Given the description of an element on the screen output the (x, y) to click on. 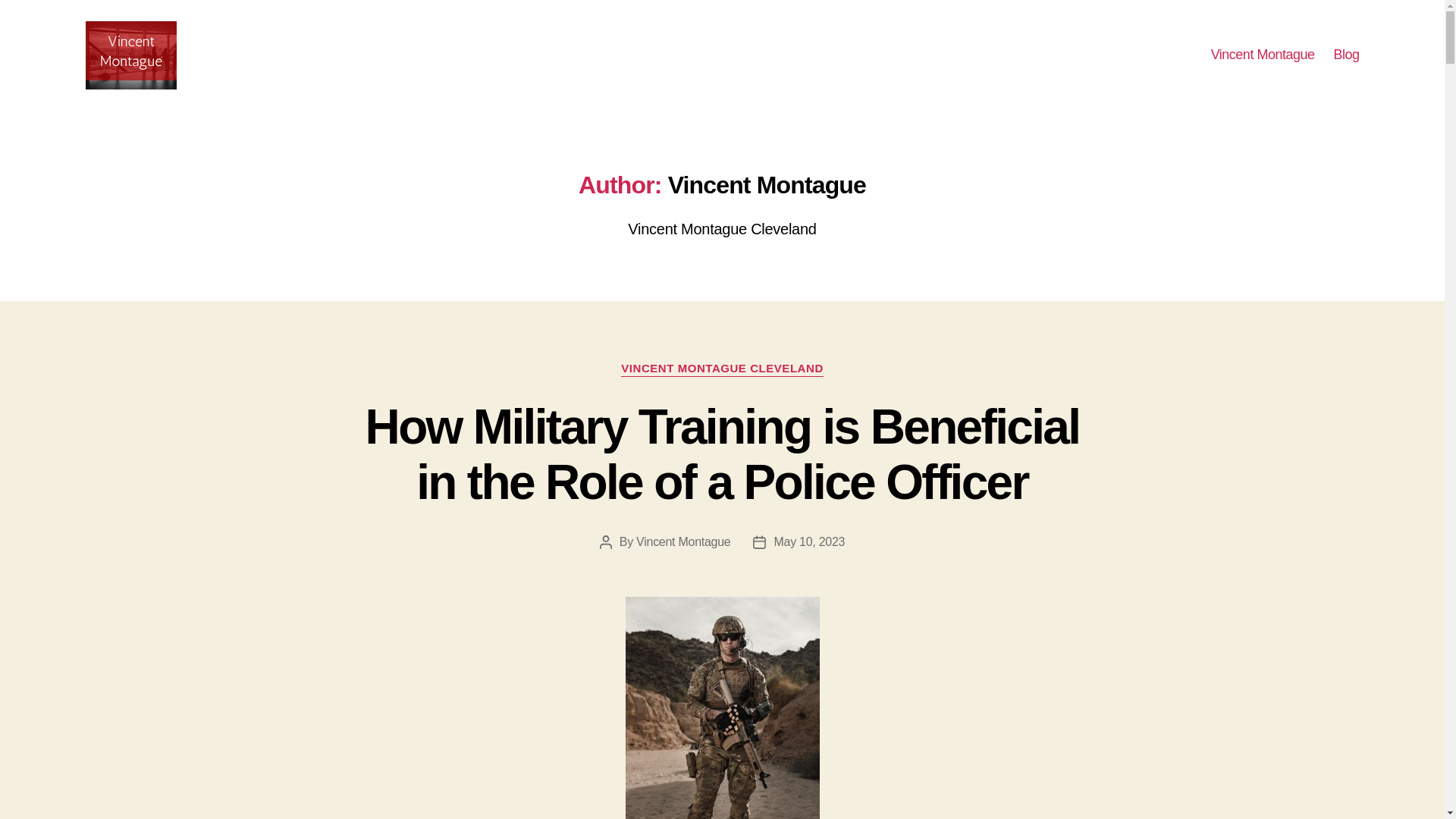
Vincent Montague (683, 541)
Vincent Montague (1262, 54)
Blog (1345, 54)
VINCENT MONTAGUE CLEVELAND (722, 368)
May 10, 2023 (808, 541)
